Given the description of an element on the screen output the (x, y) to click on. 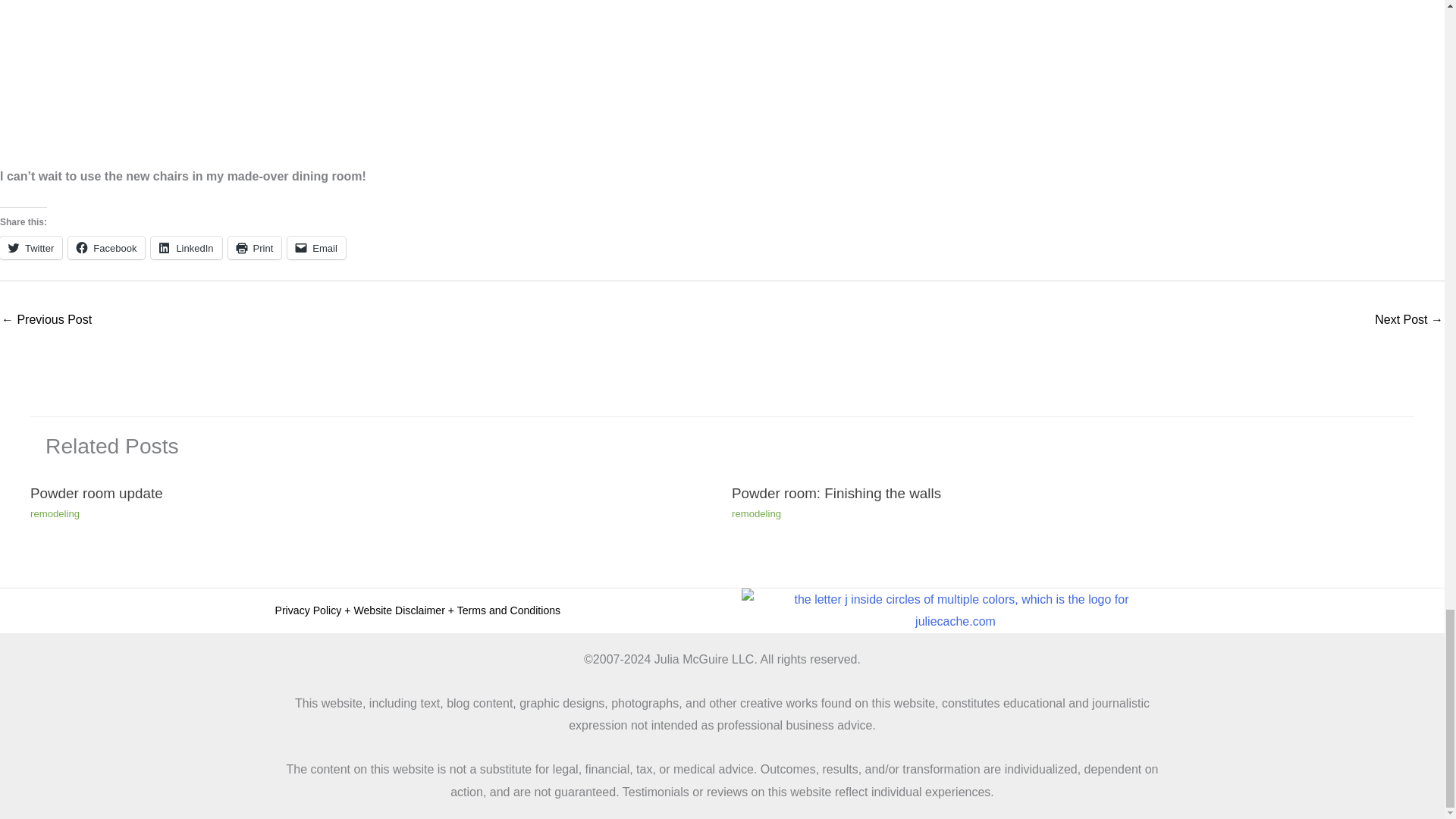
remodeling (55, 513)
Click to share on Twitter (31, 247)
The bee tree (1408, 320)
Click to share on LinkedIn (186, 247)
Email (316, 247)
Facebook (106, 247)
Click to share on Facebook (106, 247)
LinkedIn (186, 247)
Powder room niche, closer to finished (46, 320)
Powder room: Finishing the walls (836, 493)
Powder room update (96, 493)
Twitter (31, 247)
Click to print (255, 247)
remodeling (756, 513)
Print (255, 247)
